Given the description of an element on the screen output the (x, y) to click on. 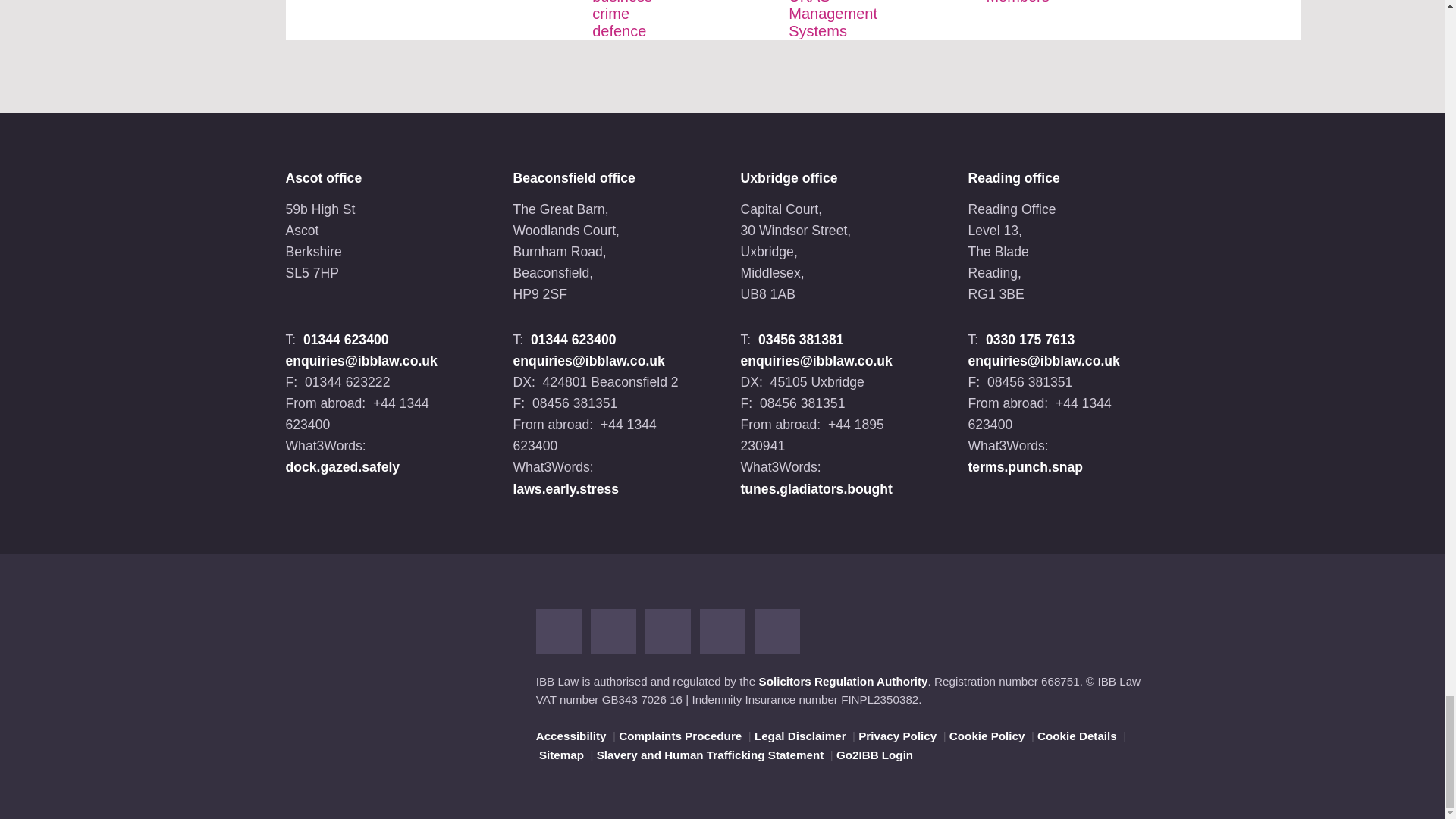
Who's Who Legal recognised in business crime defence (629, 19)
Hillingdon Chamber of Commerce Members (1022, 2)
QA Centre For Assessment Ltd and UKAS Management Systems (833, 19)
